Given the description of an element on the screen output the (x, y) to click on. 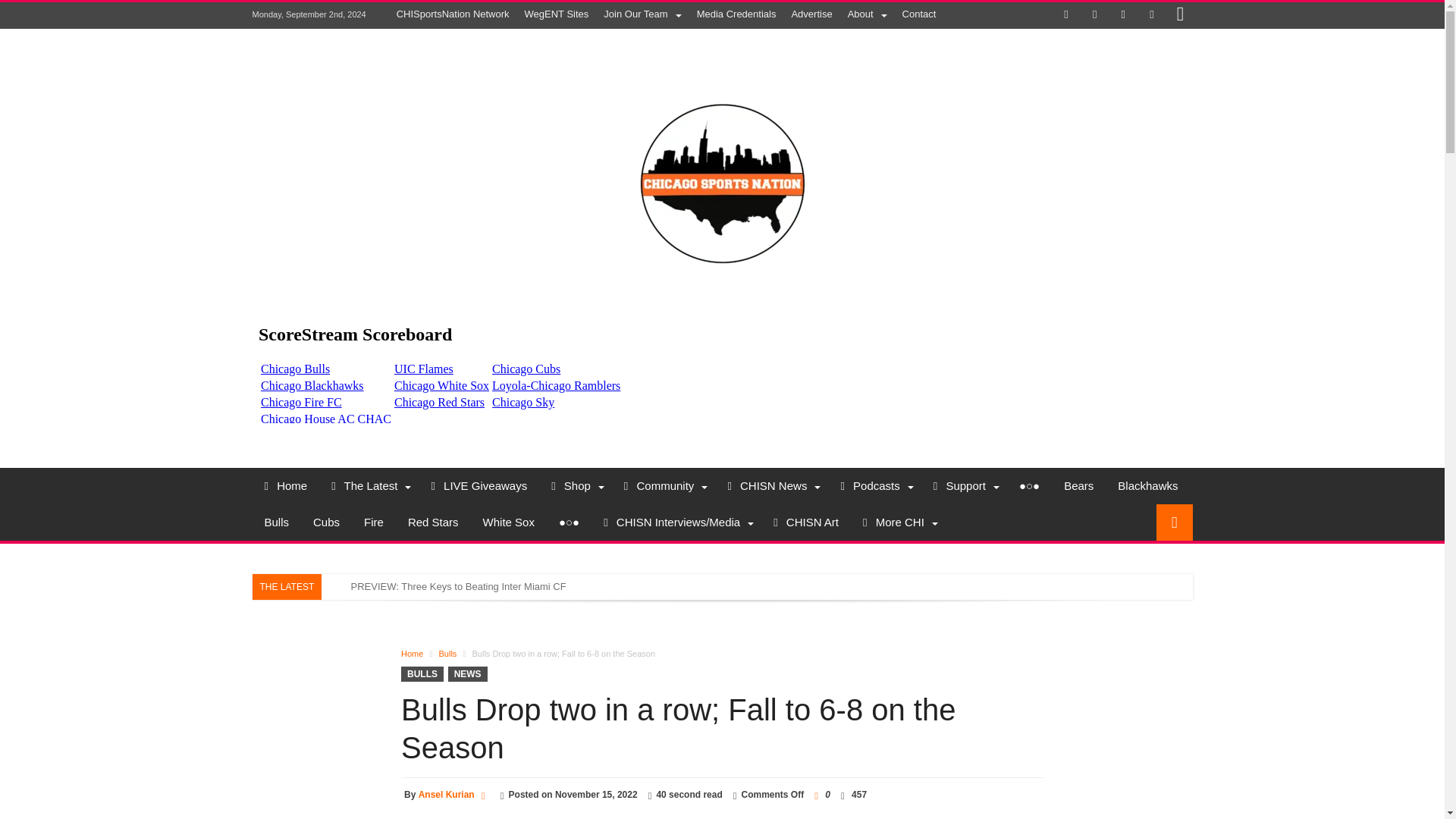
CHISN News (771, 485)
About (867, 14)
Contact (919, 14)
Realtime sports scoreboard widget (721, 366)
LIVE Giveaways (478, 485)
Youtube (1151, 15)
Advertise (811, 14)
Media Credentials (736, 14)
Community (663, 485)
CHISportsNation Network (452, 14)
